Given the description of an element on the screen output the (x, y) to click on. 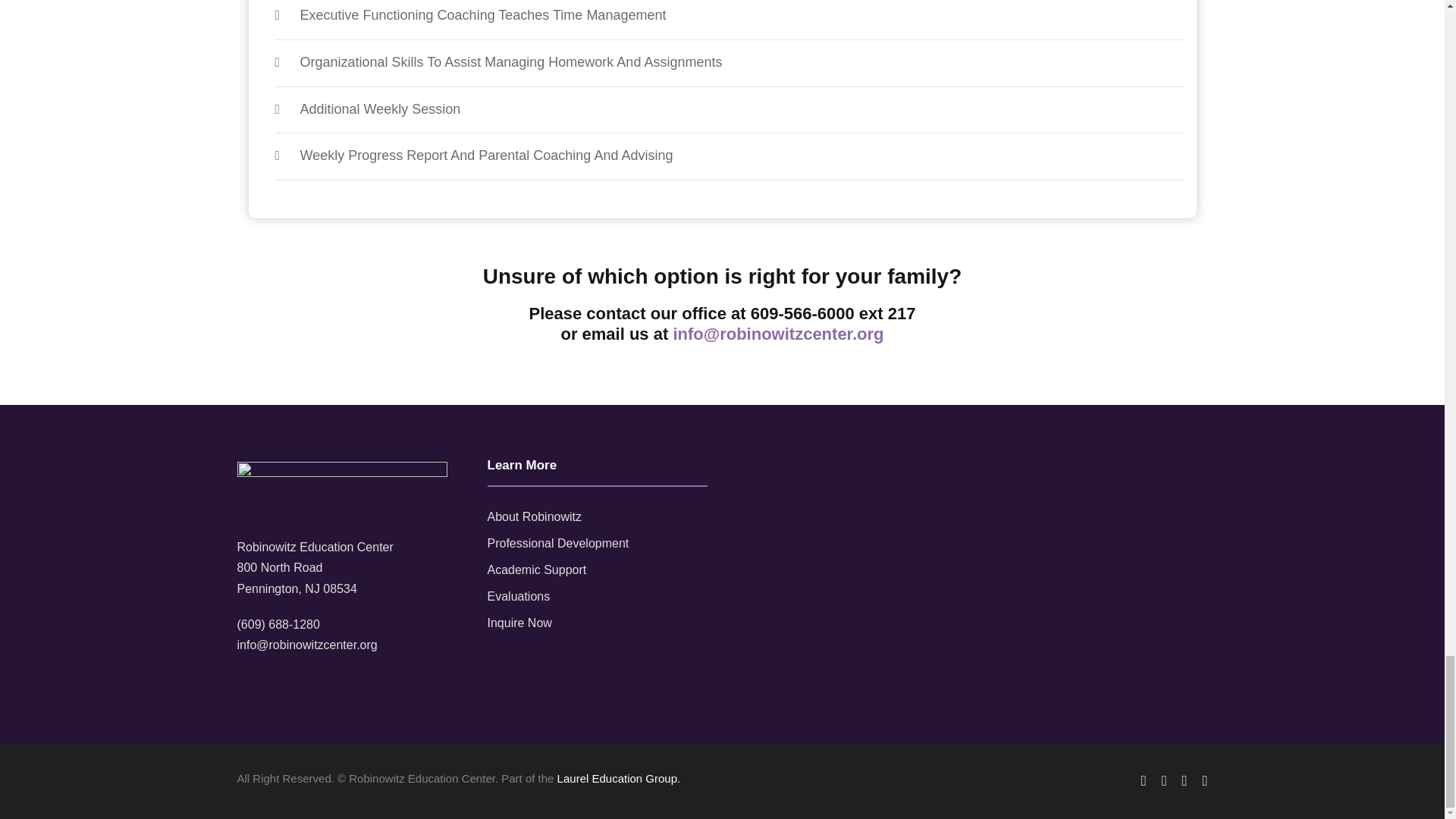
Inquire Now (518, 622)
About Robinowitz (533, 516)
Academic Support (536, 569)
Evaluations (518, 595)
Laurel Education Group. (619, 778)
Professional Development (557, 543)
